Given the description of an element on the screen output the (x, y) to click on. 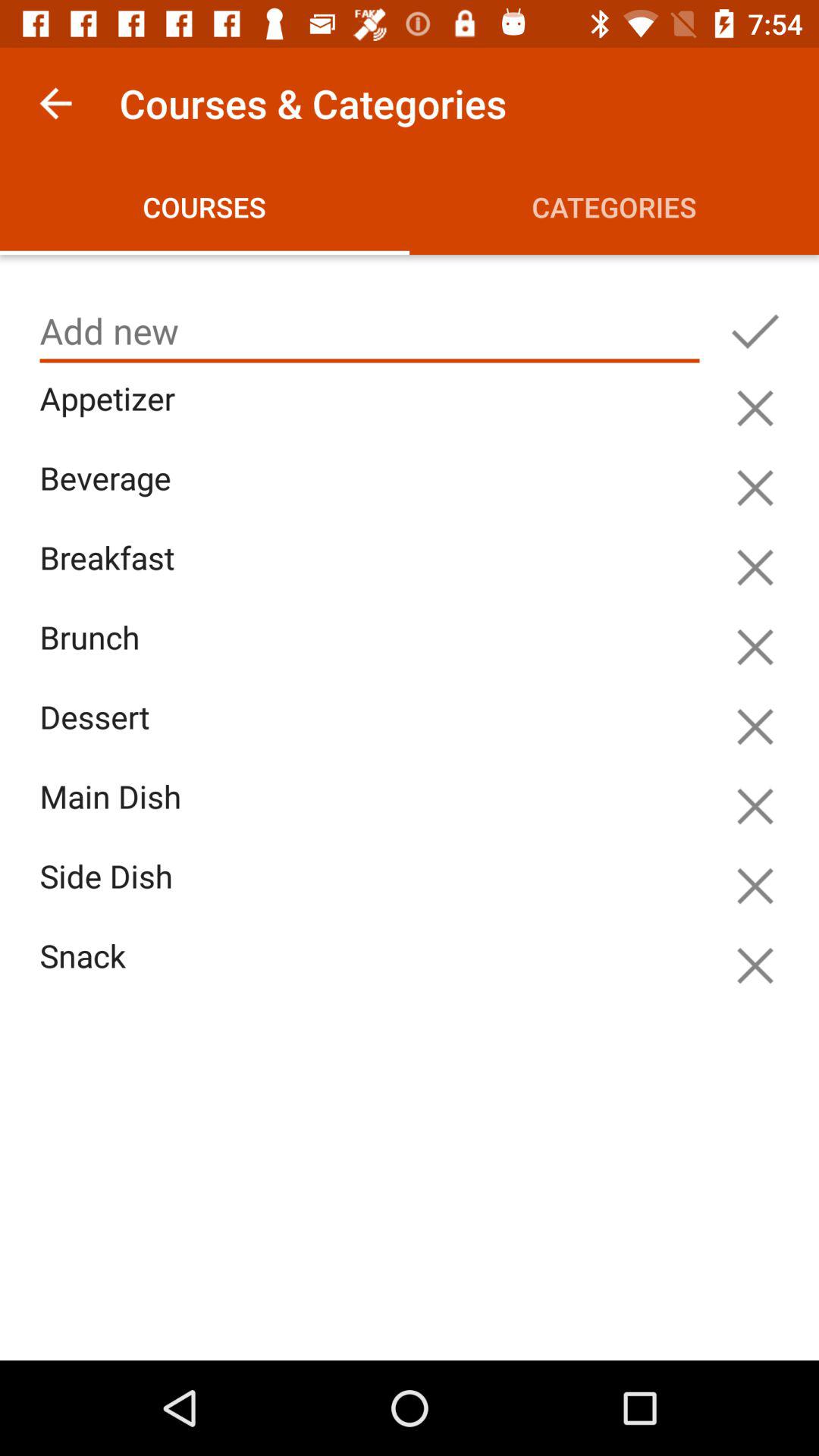
delete search (755, 806)
